Given the description of an element on the screen output the (x, y) to click on. 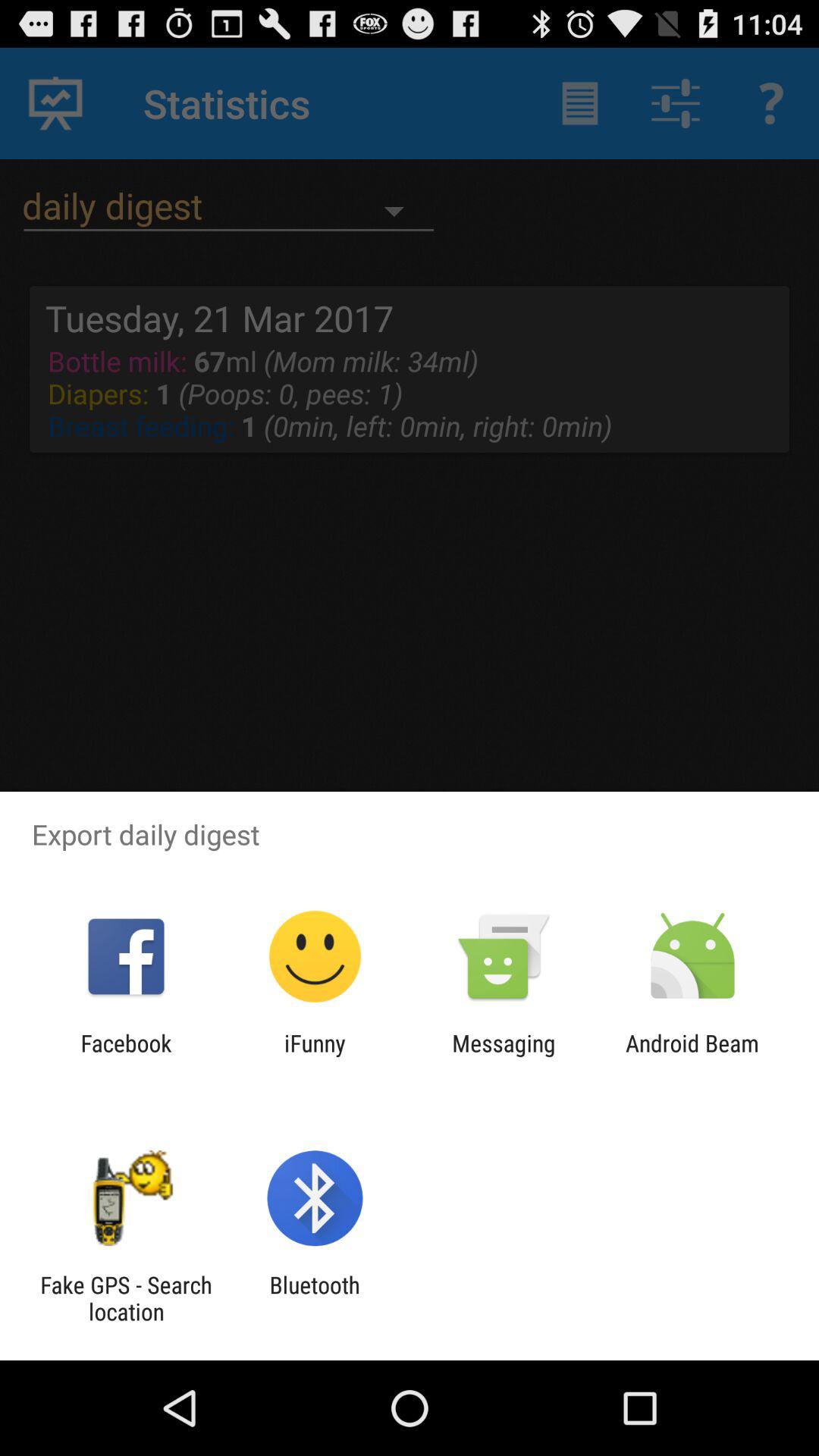
jump to the ifunny (314, 1056)
